Given the description of an element on the screen output the (x, y) to click on. 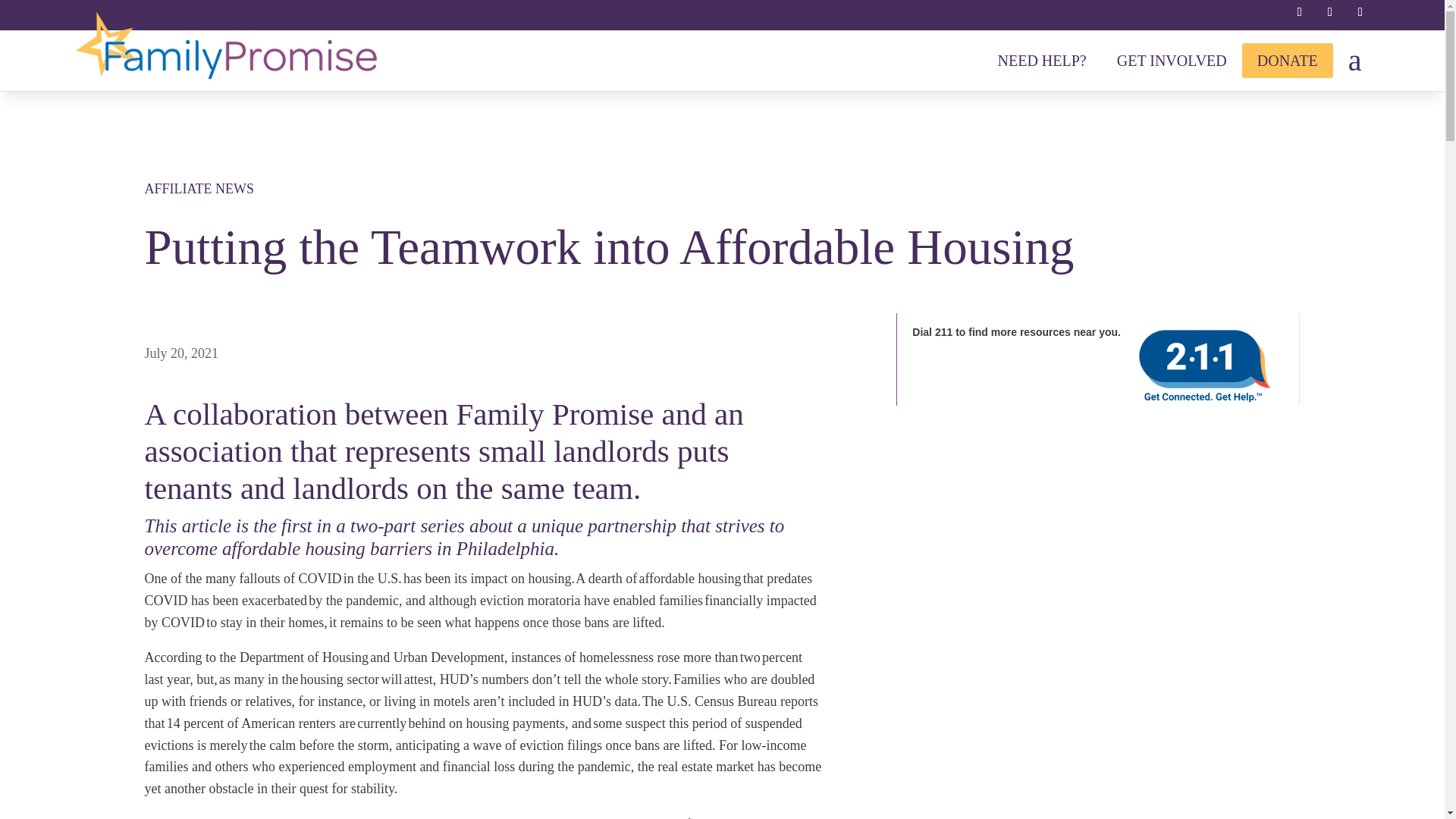
Follow on Instagram (1360, 12)
FP-logo-horiz (225, 45)
GET INVOLVED (1171, 60)
DONATE (1287, 60)
Follow on LinkedIn (1329, 12)
Follow on Facebook (1299, 12)
NEED HELP? (1042, 60)
